Given the description of an element on the screen output the (x, y) to click on. 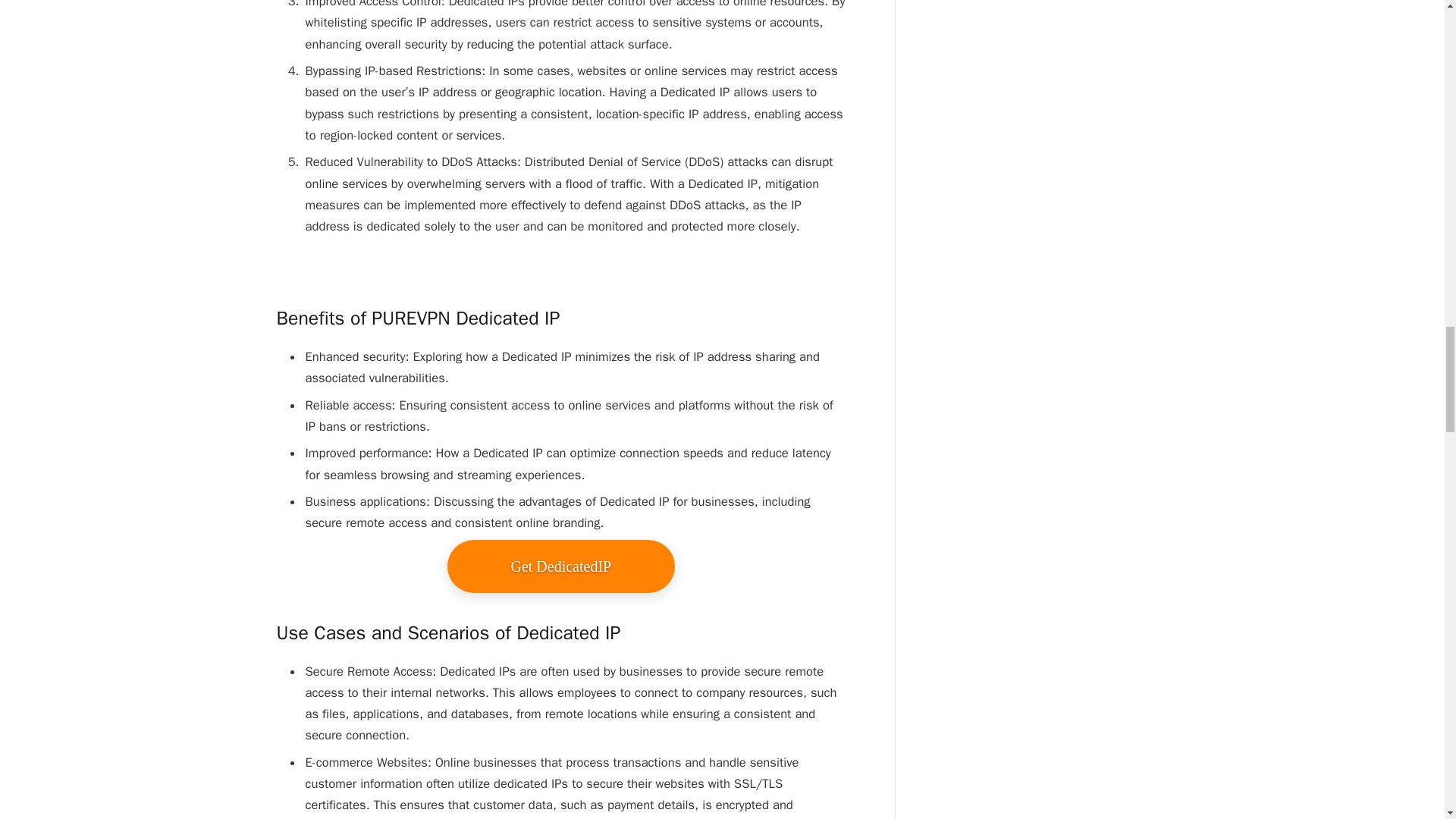
Get DedicatedIP (560, 565)
